Given the description of an element on the screen output the (x, y) to click on. 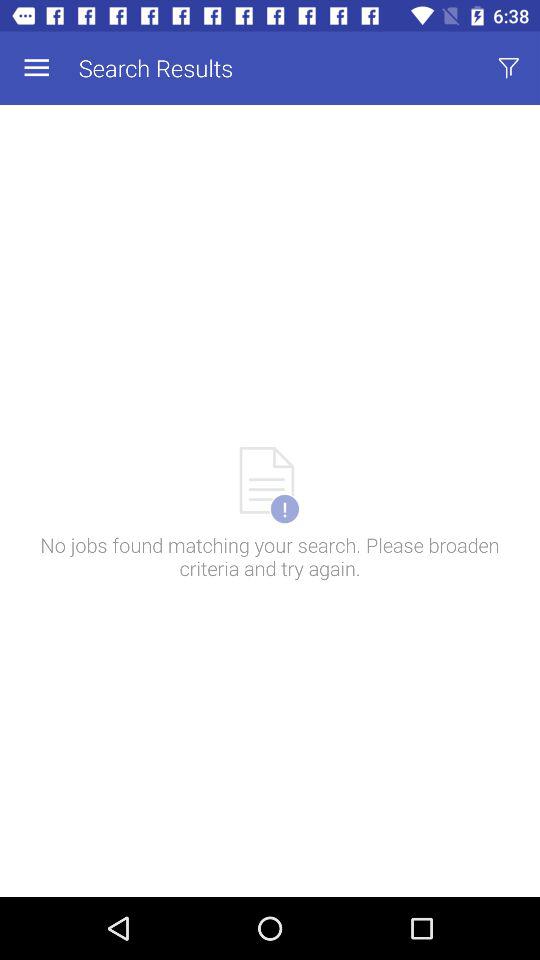
click icon next to search results item (508, 67)
